Given the description of an element on the screen output the (x, y) to click on. 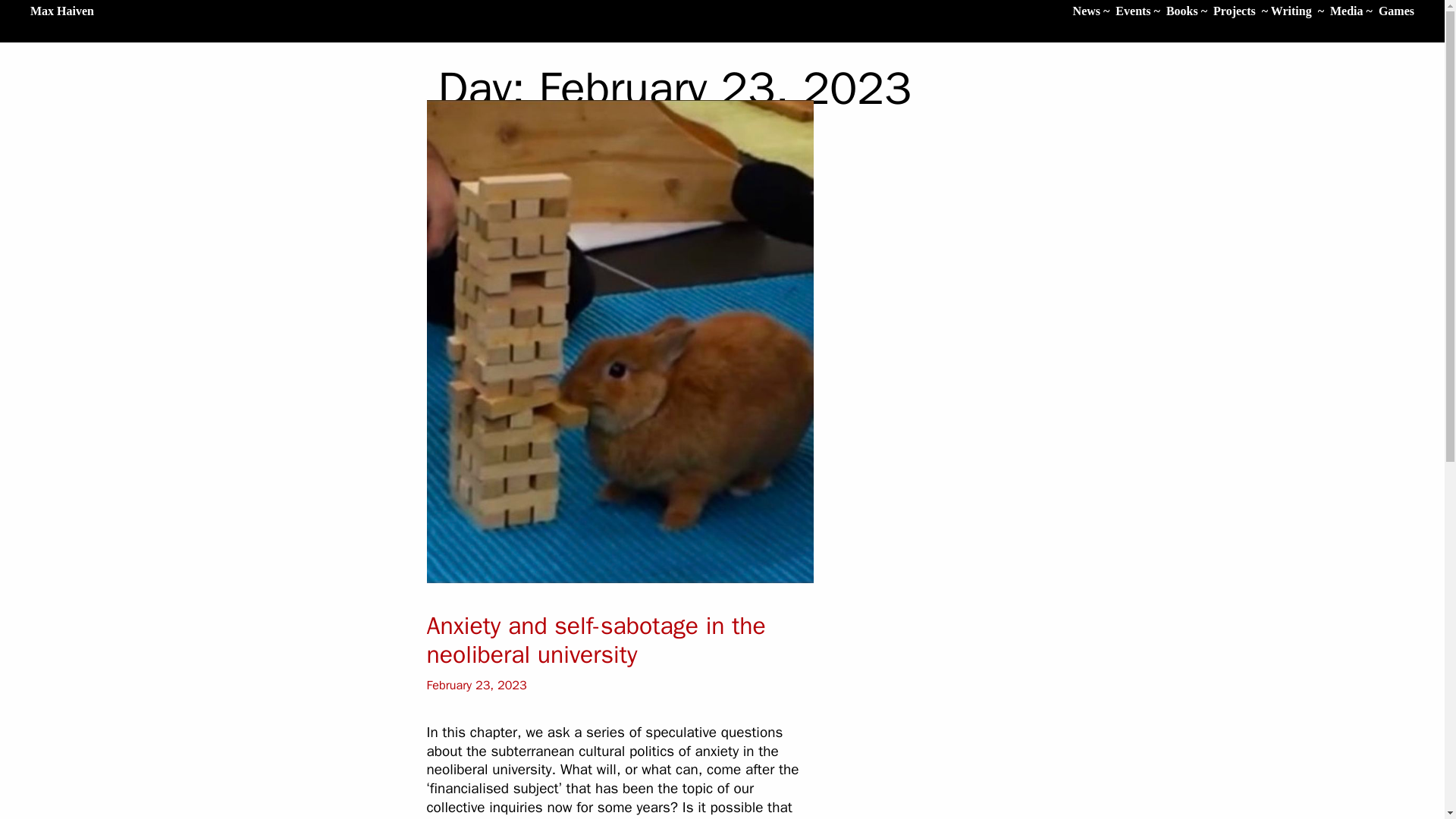
9:44 am (475, 684)
Media (1346, 10)
February 23, 2023 (475, 684)
Projects (1233, 10)
News (1086, 10)
Events (1132, 10)
Anxiety and self-sabotage in the neoliberal university (595, 640)
Max Haiven (62, 10)
Games (1395, 10)
Books (1182, 10)
Writing (1291, 10)
